Given the description of an element on the screen output the (x, y) to click on. 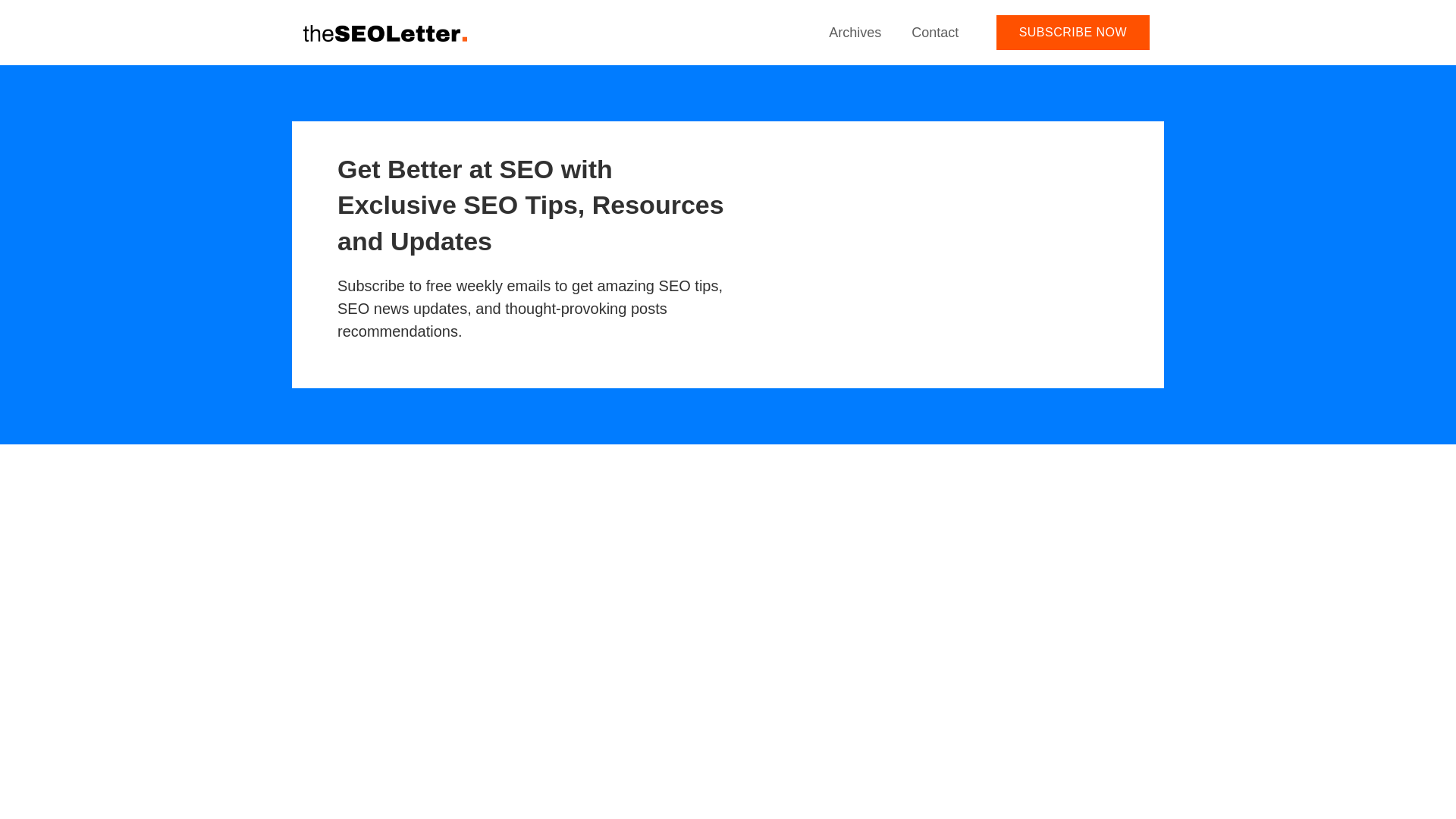
SUBSCRIBE NOW (1072, 32)
Archives (854, 32)
Contact (935, 32)
